Given the description of an element on the screen output the (x, y) to click on. 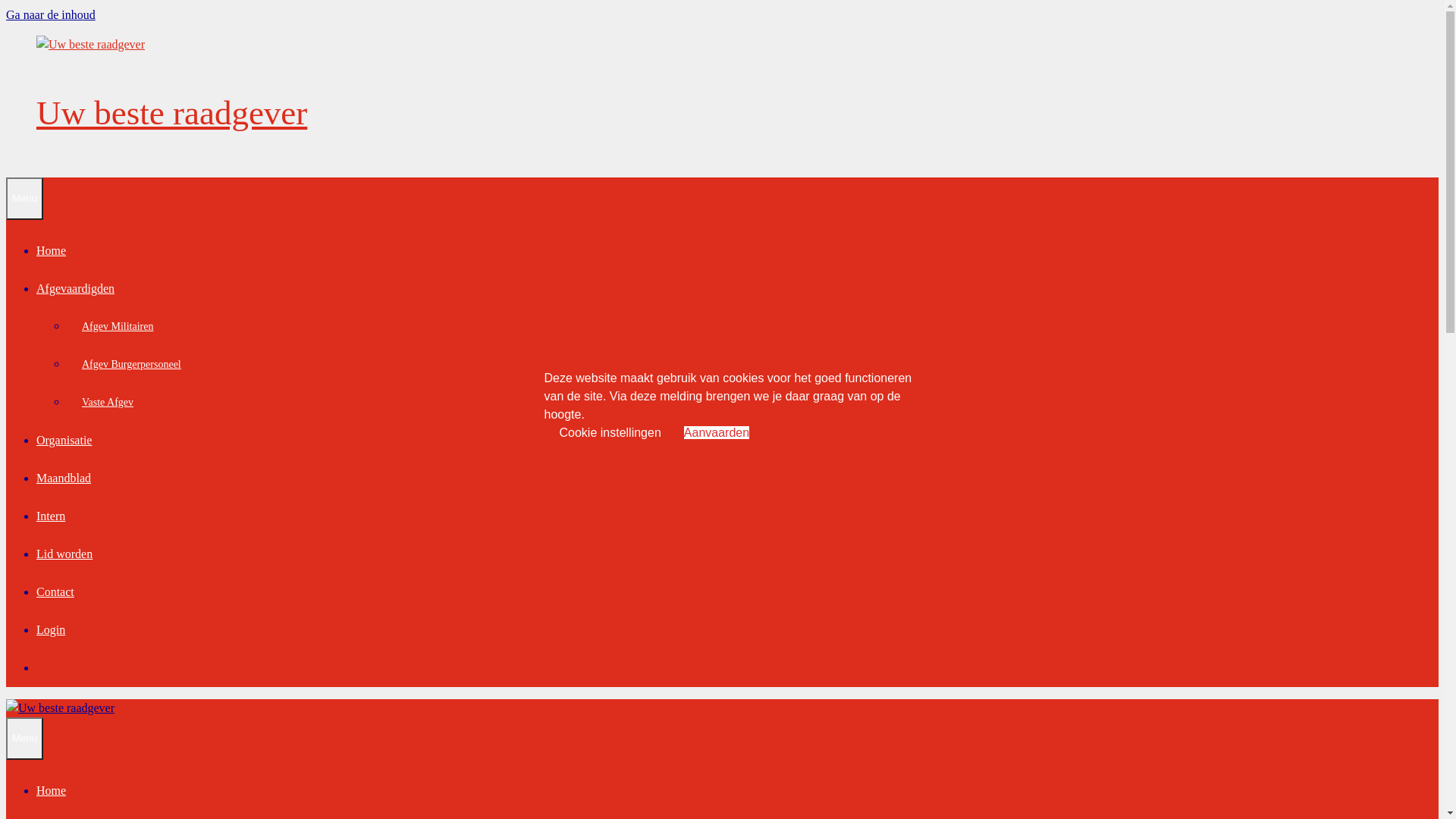
Uw beste raadgever Element type: text (171, 112)
Aanvaarden Element type: text (716, 432)
Menu Element type: text (24, 198)
Uw beste raadgever Element type: hover (60, 706)
Organisatie Element type: text (63, 439)
Ga naar de inhoud Element type: text (50, 14)
Maandblad Element type: text (63, 477)
Afgev Militairen Element type: text (117, 325)
Cookie instellingen Element type: text (610, 432)
Menu Element type: text (24, 738)
Afgevaardigden Element type: text (75, 288)
Home Element type: text (50, 790)
Contact Element type: text (55, 591)
Uw beste raadgever Element type: hover (90, 44)
Afgev Burgerpersoneel Element type: text (131, 363)
Lid worden Element type: text (64, 553)
Uw beste raadgever Element type: hover (90, 43)
Intern Element type: text (50, 515)
Login Element type: text (50, 629)
Home Element type: text (50, 250)
Vaste Afgev Element type: text (107, 401)
